Given the description of an element on the screen output the (x, y) to click on. 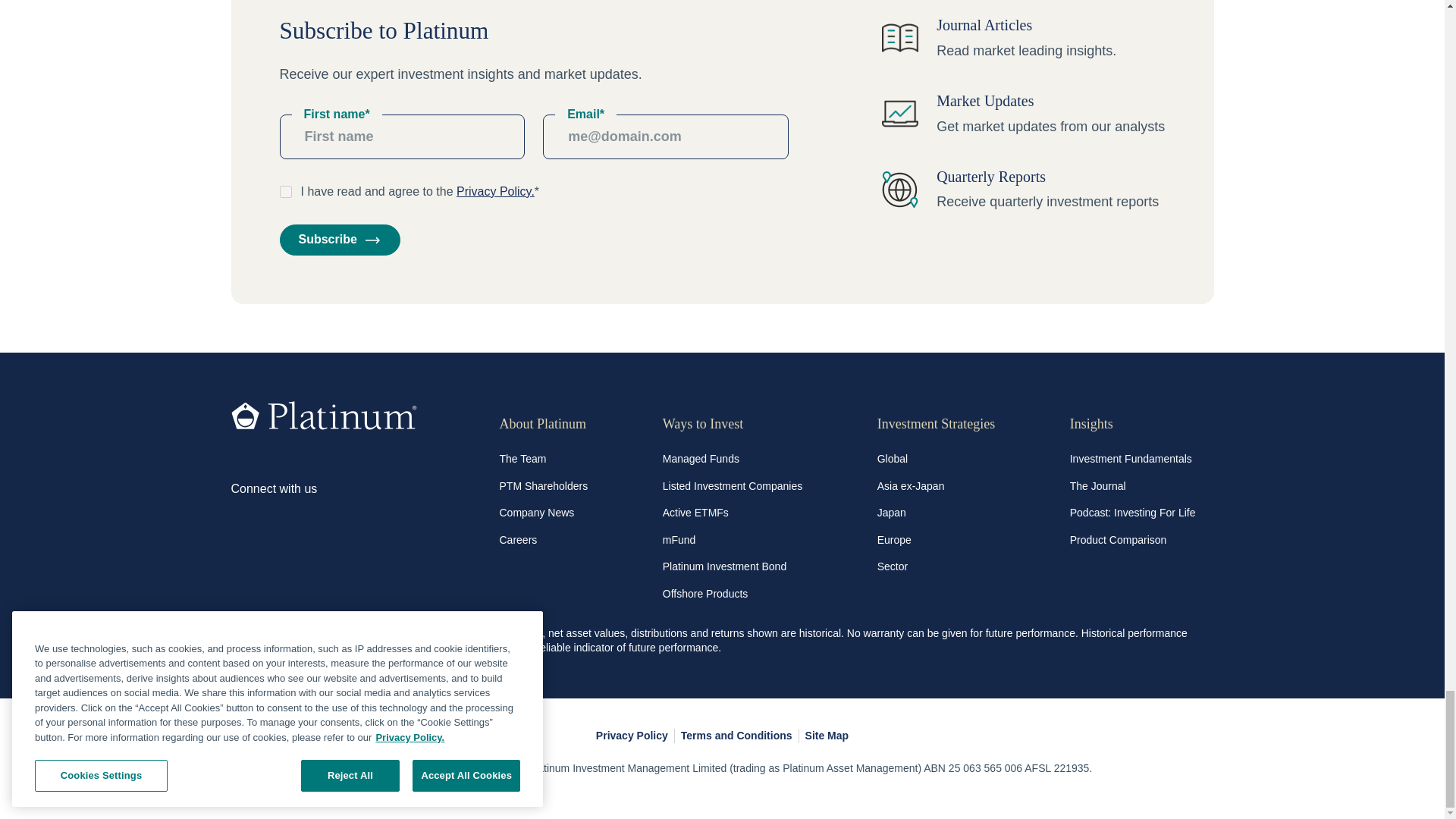
Subscribe (338, 239)
true (285, 191)
journal (900, 37)
